Given the description of an element on the screen output the (x, y) to click on. 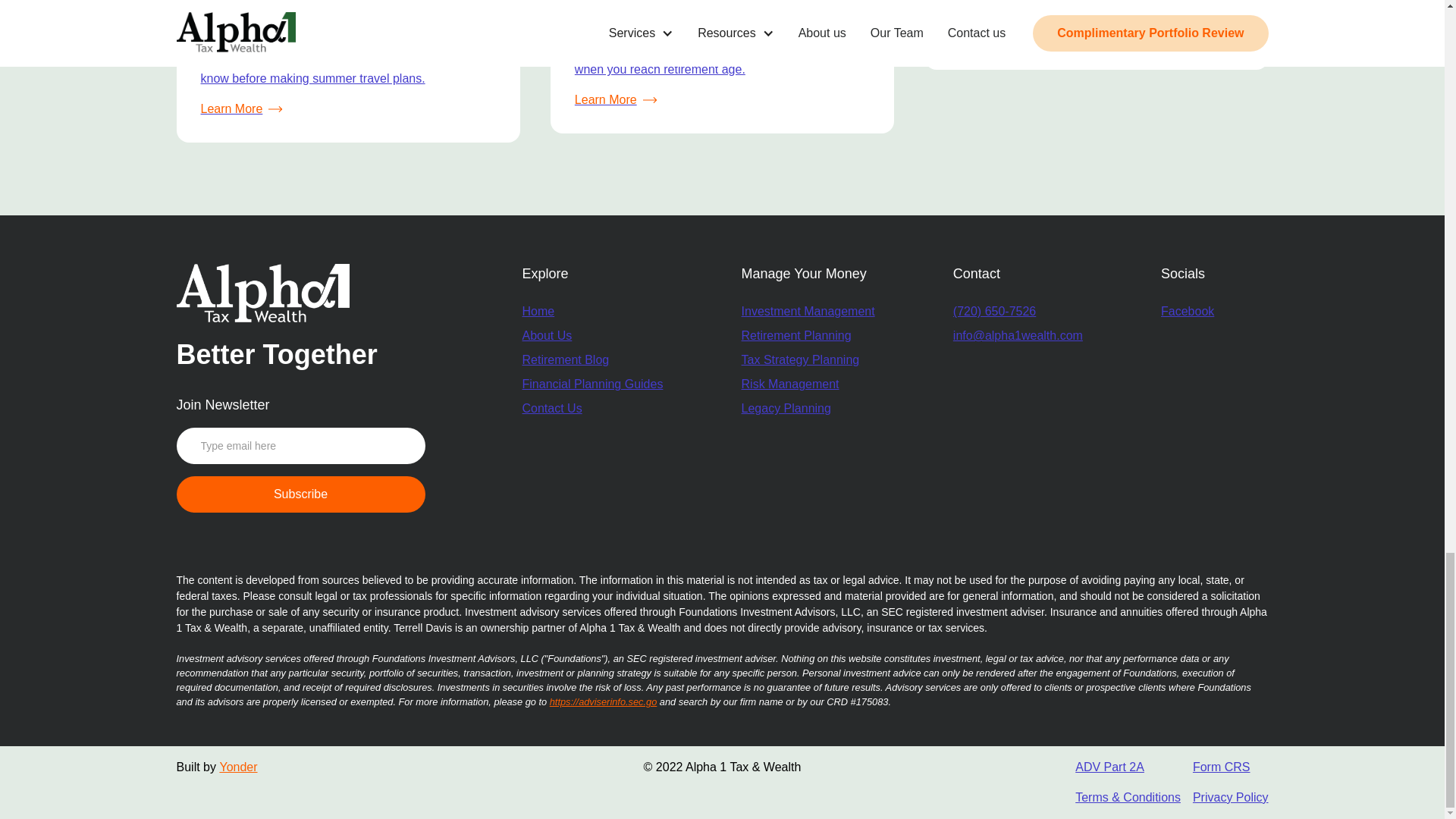
Home (537, 311)
Facebook (1187, 311)
ADV Part 2A (1127, 767)
Legacy Planning (808, 408)
Retirement Planning (808, 335)
Financial Planning Guides (591, 384)
Subscribe (300, 493)
About Us (546, 335)
Tax Strategy Planning (808, 360)
Contact Us (550, 408)
Form CRS (1230, 767)
Retirement Blog (564, 360)
Investment Management (808, 311)
Risk Management (808, 384)
Yonder (238, 767)
